Given the description of an element on the screen output the (x, y) to click on. 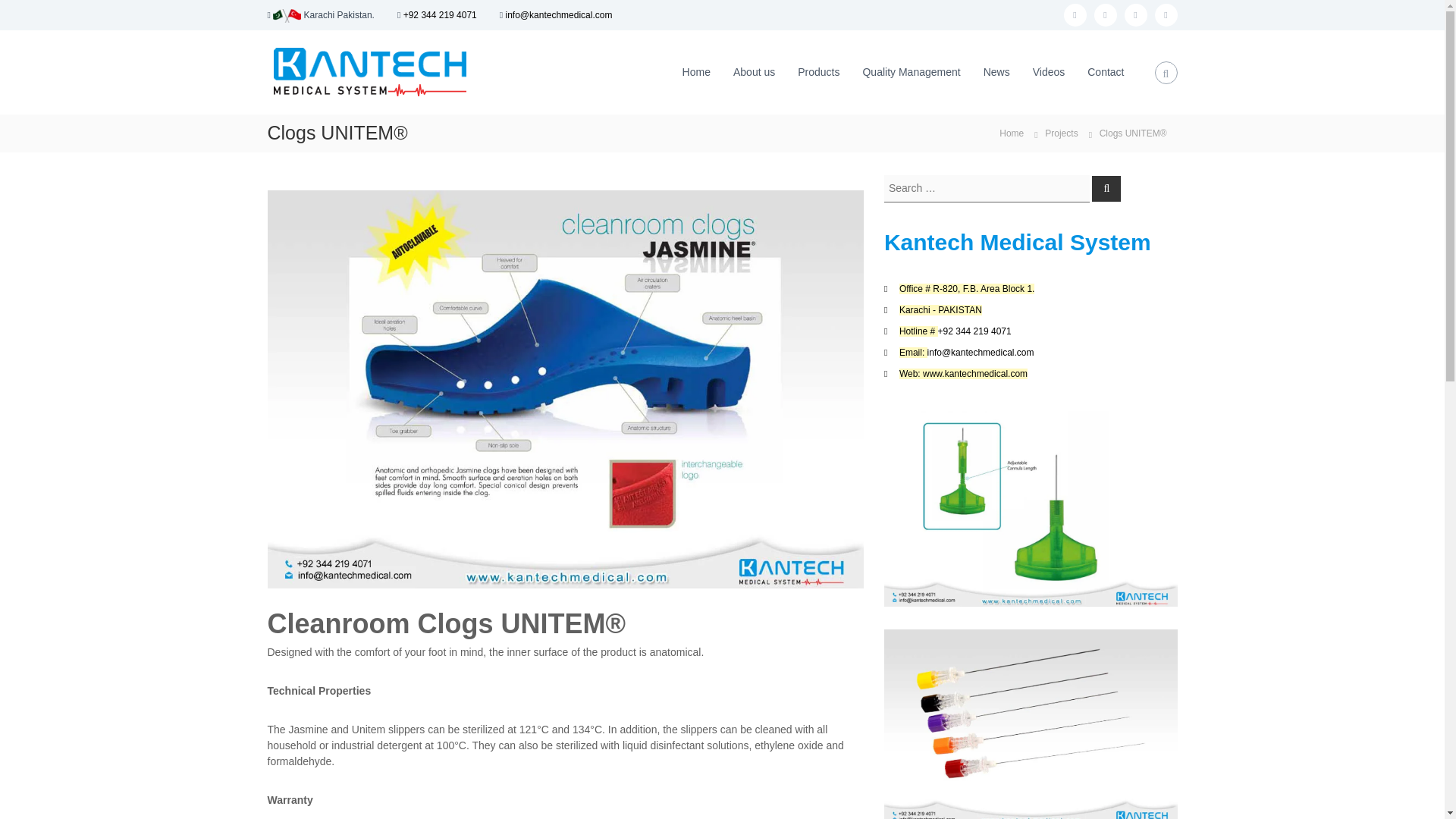
Home (696, 71)
instagram (1135, 15)
linkedin (1165, 15)
Projects (1060, 132)
twitter (1104, 15)
facebook (1074, 15)
Home (1010, 132)
About us (753, 71)
Products (818, 71)
